Given the description of an element on the screen output the (x, y) to click on. 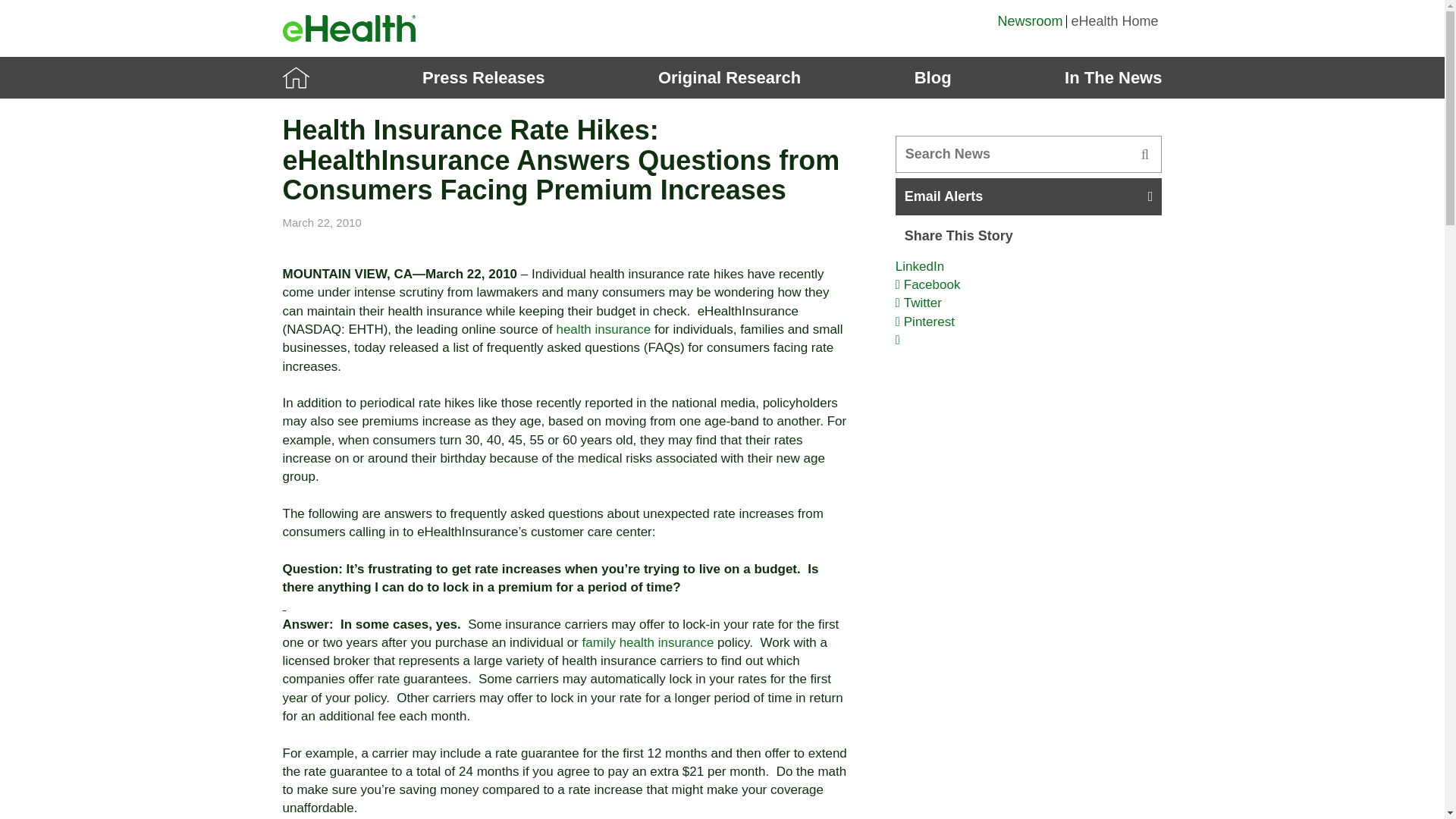
Blog (933, 76)
Twitter (918, 302)
Press Releases (483, 76)
In The News (1112, 76)
newsroom (1029, 20)
LinkedIn (919, 266)
Facebook (927, 284)
Newsroom (1029, 20)
Email Alerts (1028, 196)
newsroom (295, 77)
Original Research (729, 76)
health insurance (603, 329)
family health insurance (648, 642)
eHealth Home (1113, 20)
eHealth Home (1113, 20)
